Given the description of an element on the screen output the (x, y) to click on. 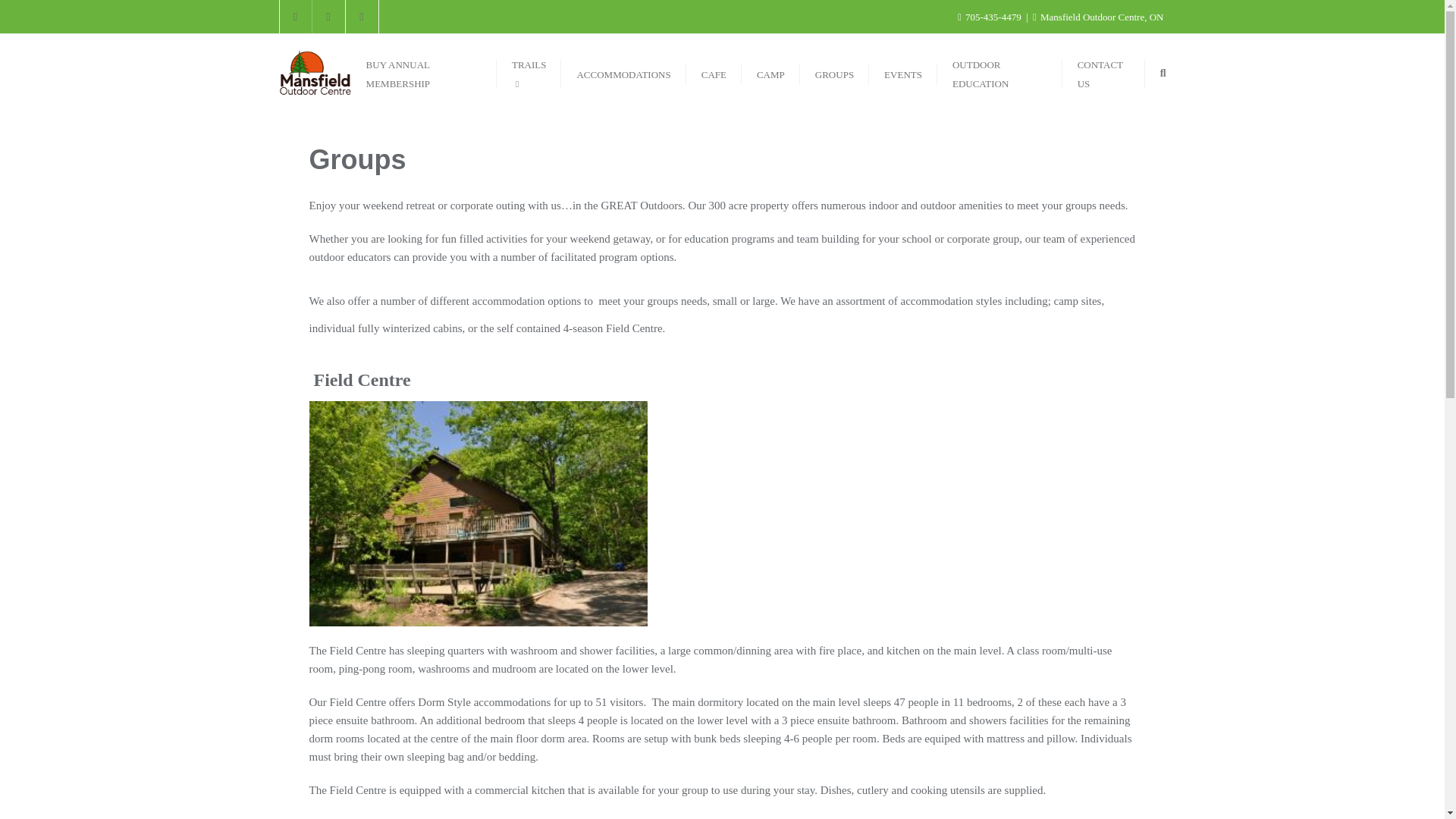
GROUPS (834, 73)
CONTACT US (1103, 72)
CAFE (713, 73)
CAMP (770, 73)
BUY ANNUAL MEMBERSHIP (423, 72)
EVENTS (903, 73)
OUTDOOR EDUCATION (999, 72)
Mansfield Outdoor Centre, ON (1097, 16)
ACCOMMODATIONS (622, 73)
